Given the description of an element on the screen output the (x, y) to click on. 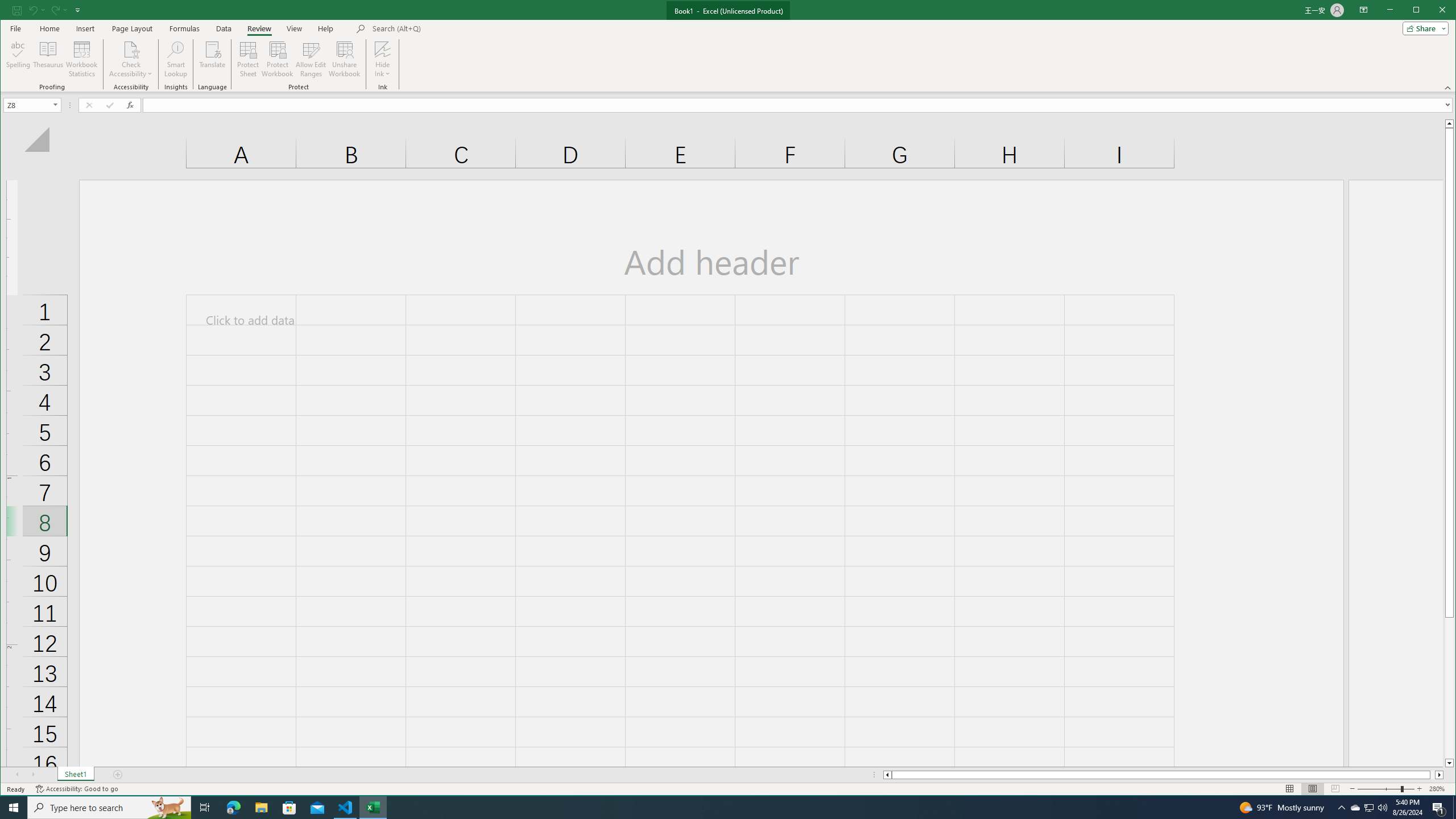
User Promoted Notification Area (1368, 807)
Excel - 1 running window (373, 807)
Search highlights icon opens search home window (167, 807)
